Given the description of an element on the screen output the (x, y) to click on. 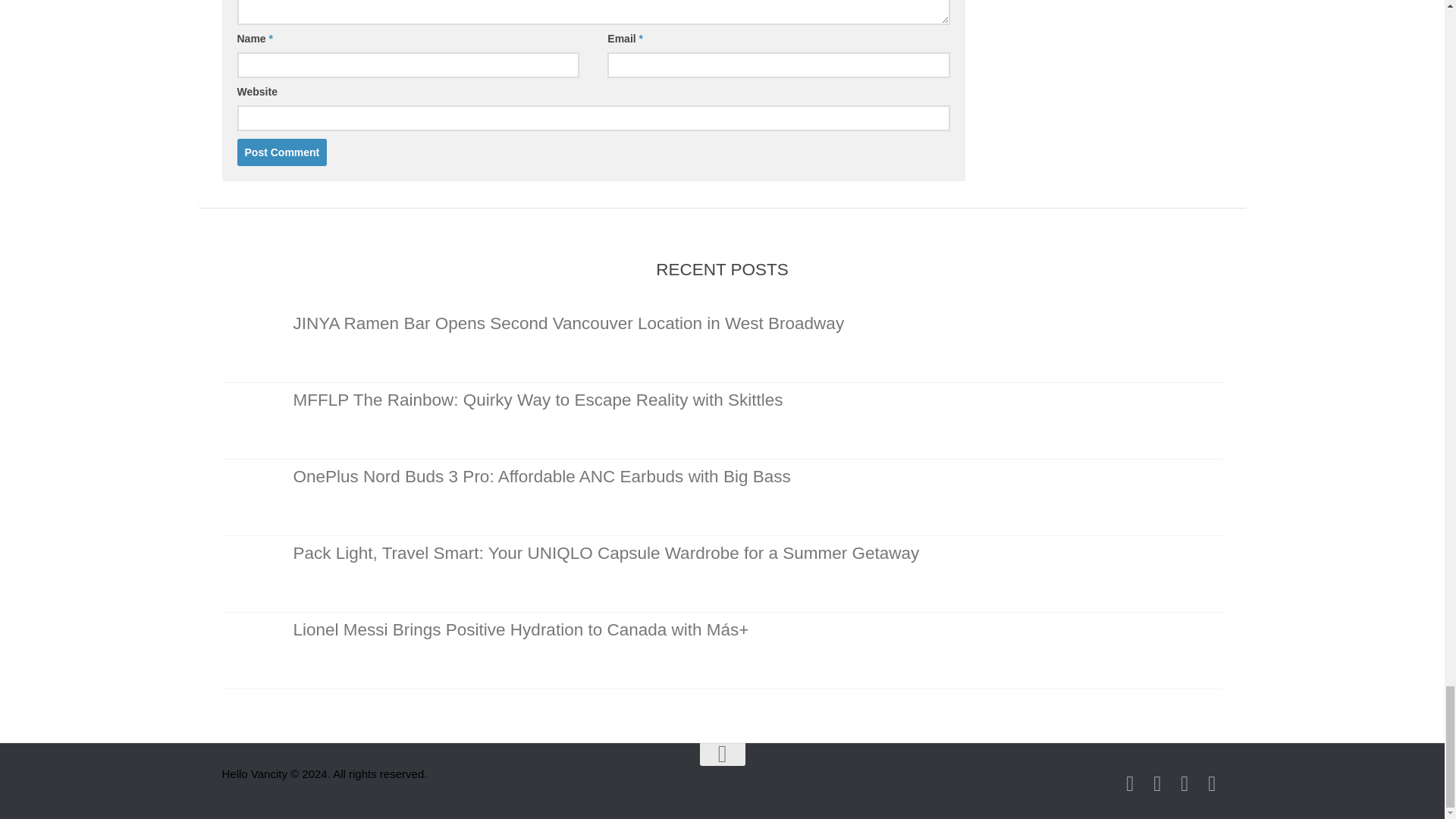
Post Comment (280, 152)
Follow us on Facebook (1184, 783)
Follow us on Instagram (1129, 783)
Post Comment (280, 152)
Follow us on Tiktok (1157, 783)
Follow us on Twitter (1212, 783)
